Given the description of an element on the screen output the (x, y) to click on. 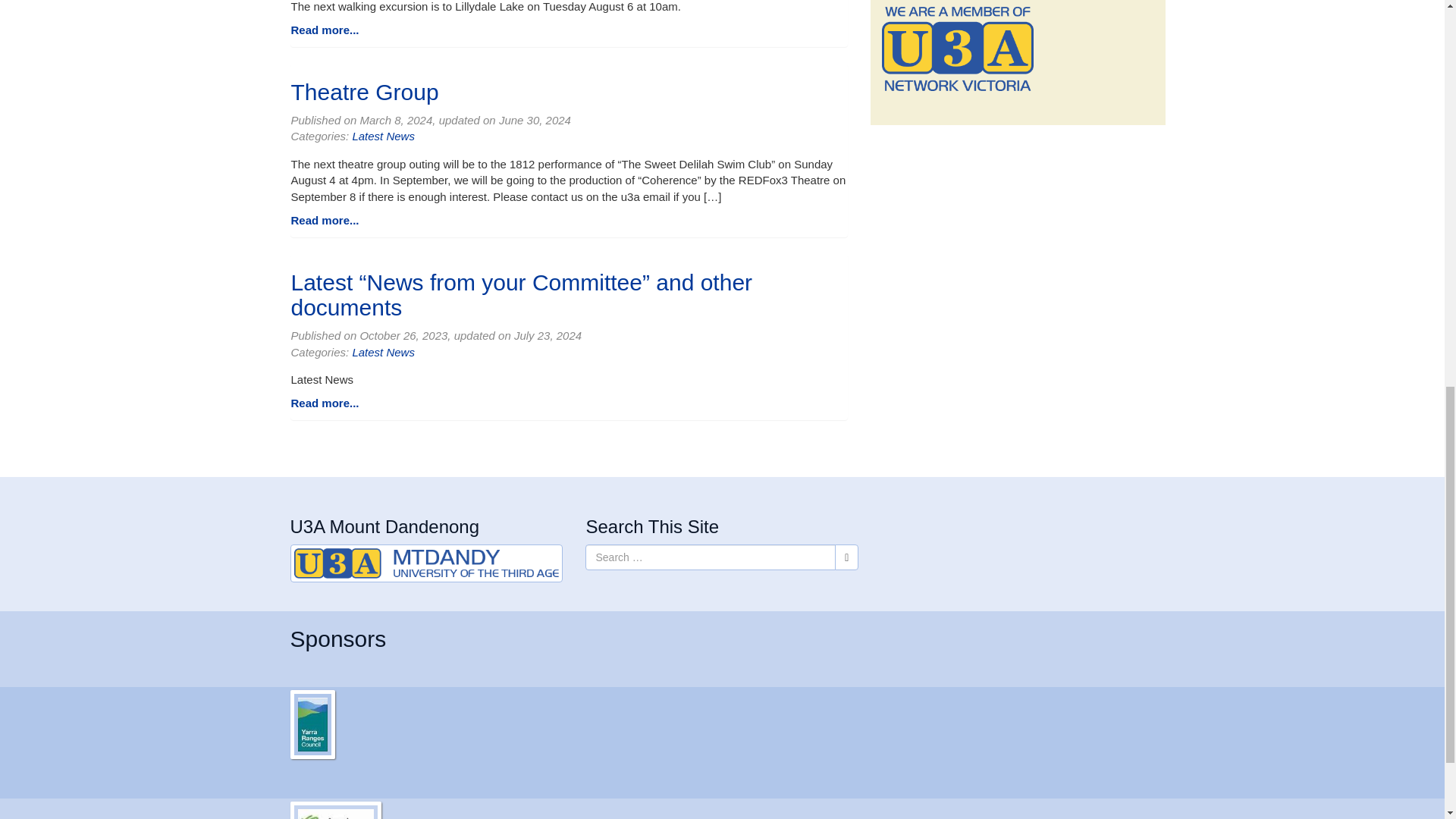
Search for: (710, 557)
U3A Mount Dandenong (425, 563)
